Given the description of an element on the screen output the (x, y) to click on. 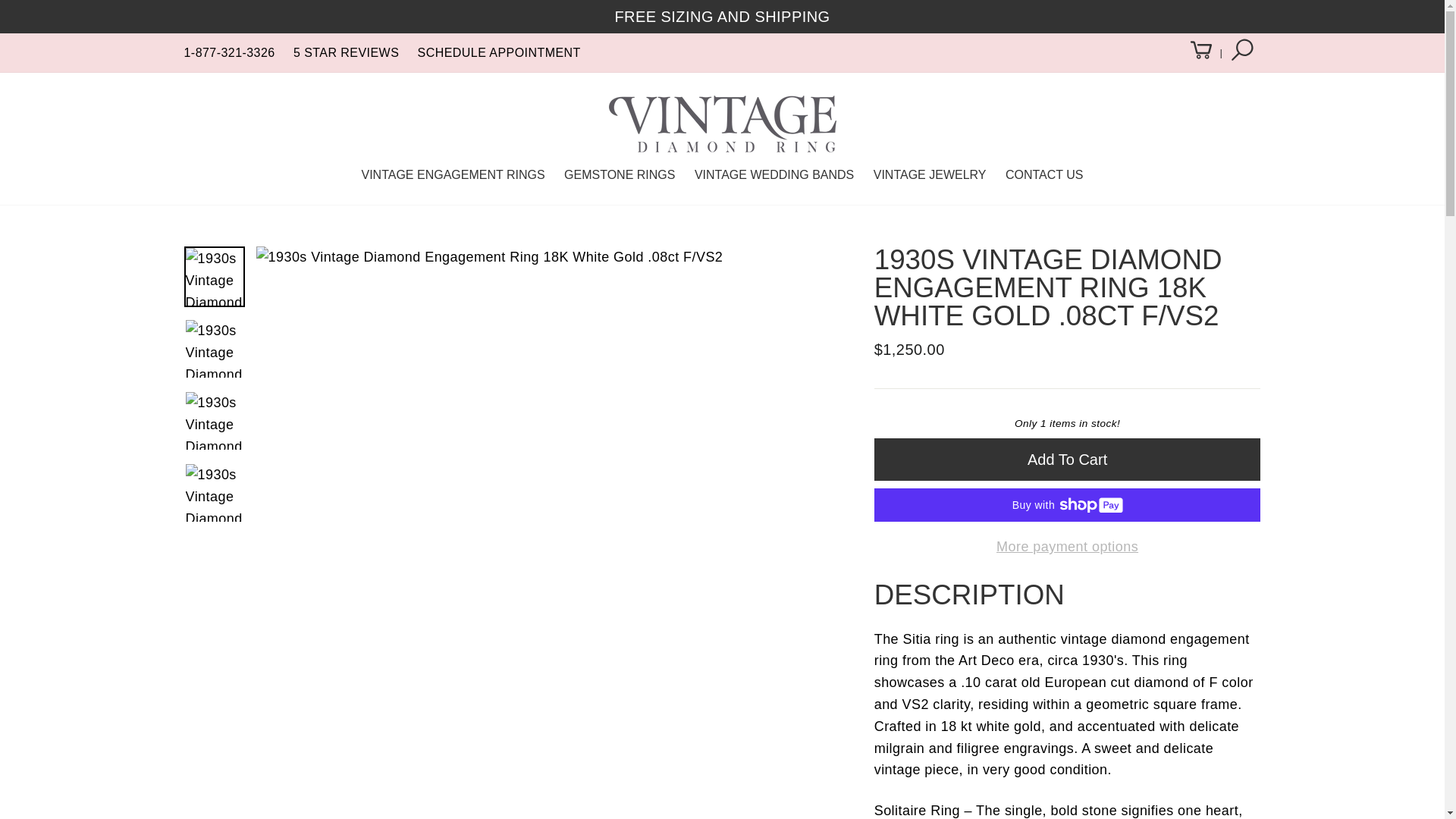
1-877-321-3326 (229, 52)
SCHEDULE APPOINTMENT (499, 52)
VINTAGE WEDDING BANDS (774, 174)
VINTAGE JEWELRY (930, 174)
GEMSTONE RINGS (619, 174)
5 STAR REVIEWS (345, 52)
VINTAGE ENGAGEMENT RINGS (452, 174)
